Given the description of an element on the screen output the (x, y) to click on. 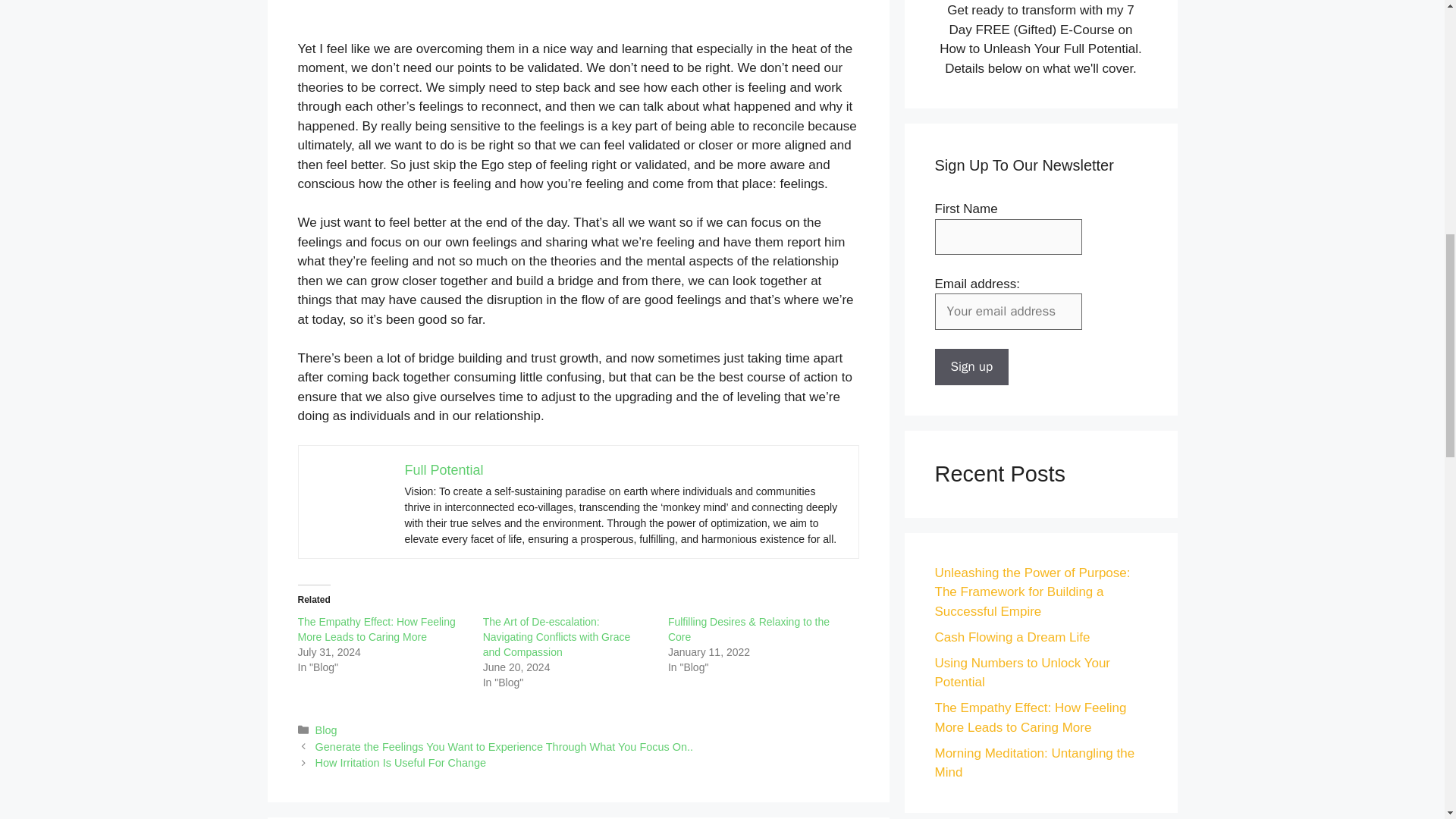
Sign up (971, 366)
Previous (504, 746)
The Empathy Effect: How Feeling More Leads to Caring More (375, 628)
Full Potential (443, 469)
Next (400, 762)
The Empathy Effect: How Feeling More Leads to Caring More (1029, 717)
Using Numbers to Unlock Your Potential (1021, 673)
